Given the description of an element on the screen output the (x, y) to click on. 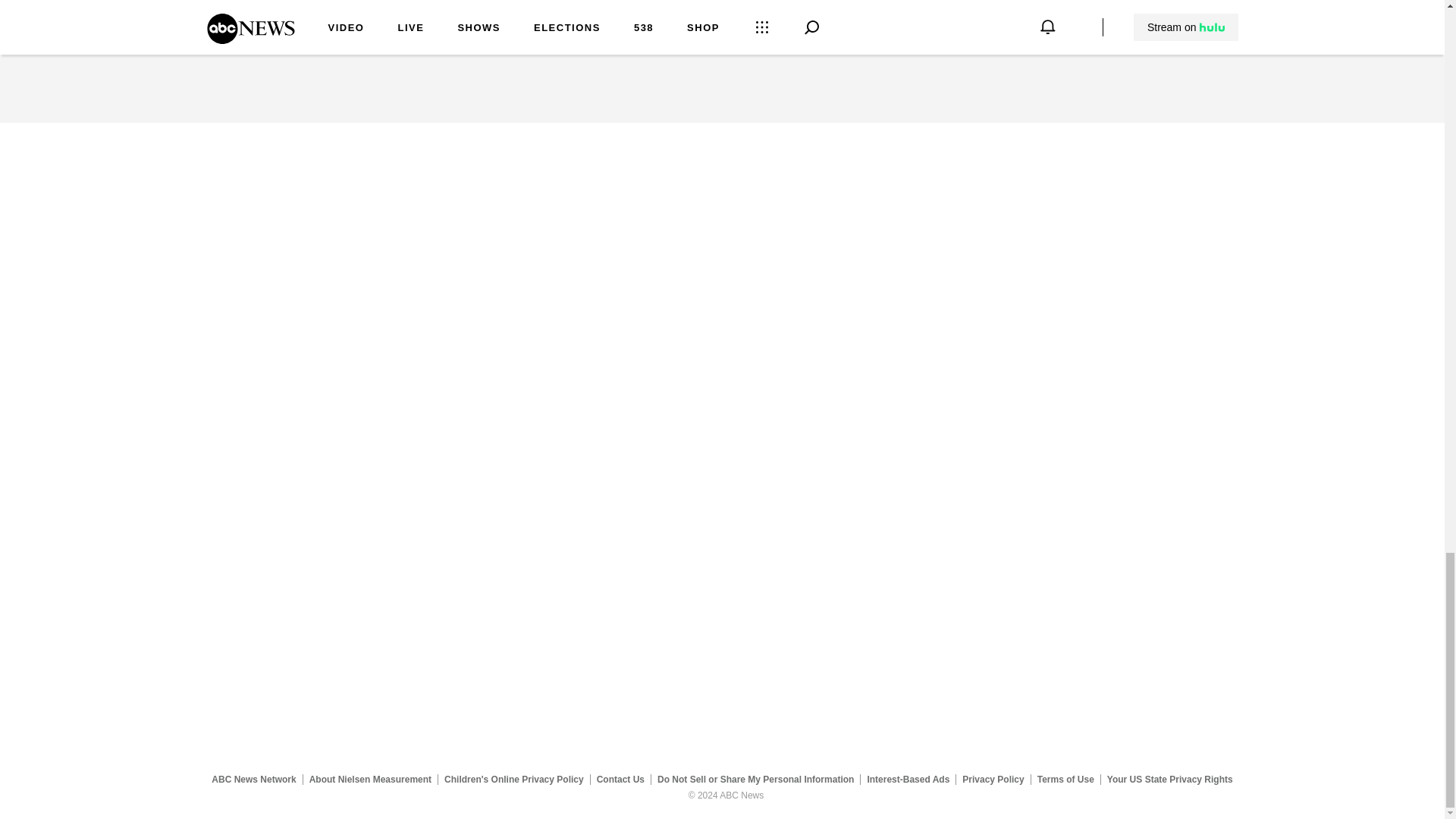
Your US State Privacy Rights (1169, 778)
Interest-Based Ads (908, 778)
Do Not Sell or Share My Personal Information (755, 778)
Contact Us (620, 778)
About Nielsen Measurement (370, 778)
Privacy Policy (993, 778)
Terms of Use (1065, 778)
Children's Online Privacy Policy (514, 778)
ABC News Network (253, 778)
